Given the description of an element on the screen output the (x, y) to click on. 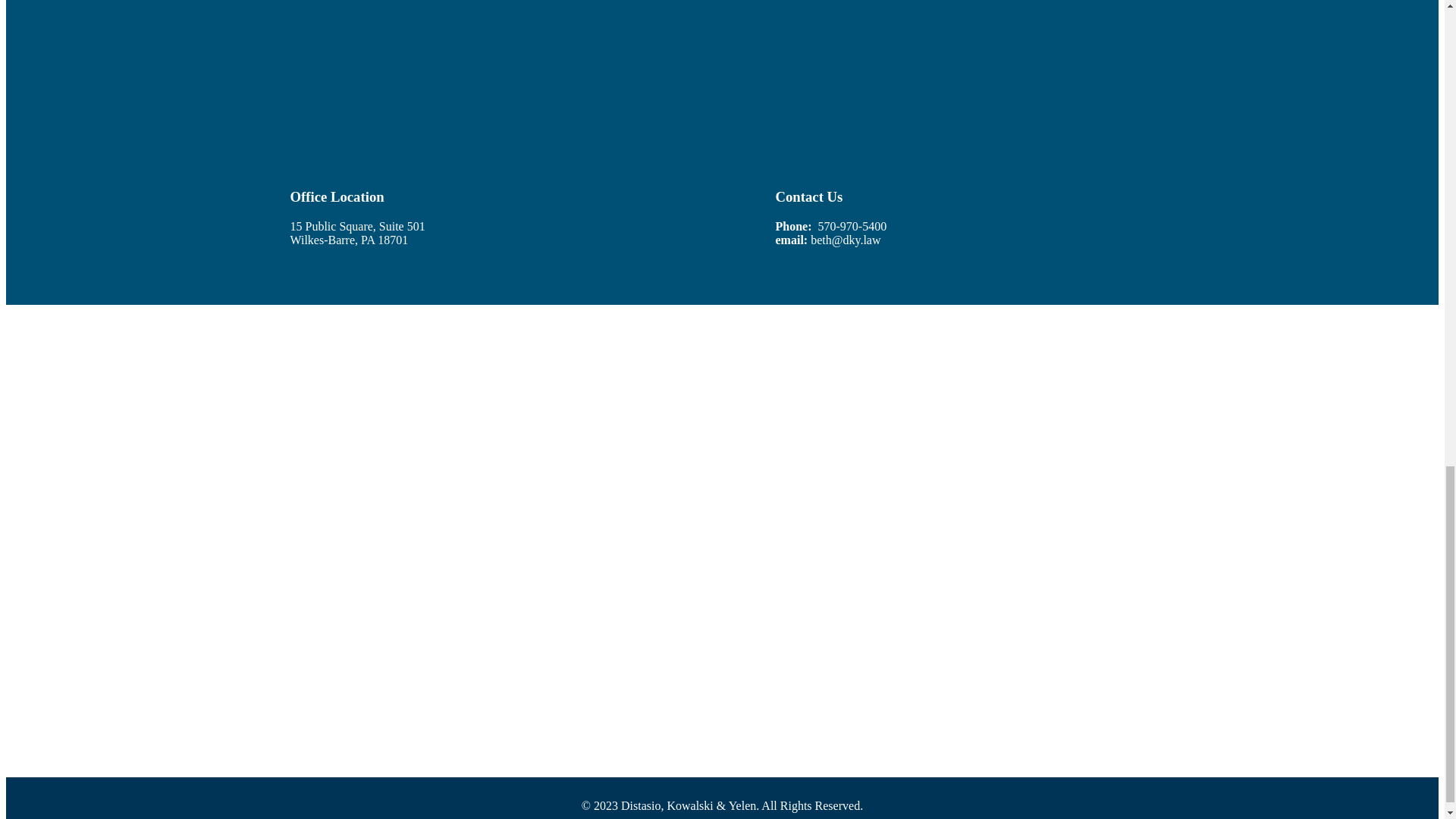
Year.png (1110, 660)
Year.png (1110, 423)
Multi-Million-Dollar-Advocates-Forum (333, 423)
